Given the description of an element on the screen output the (x, y) to click on. 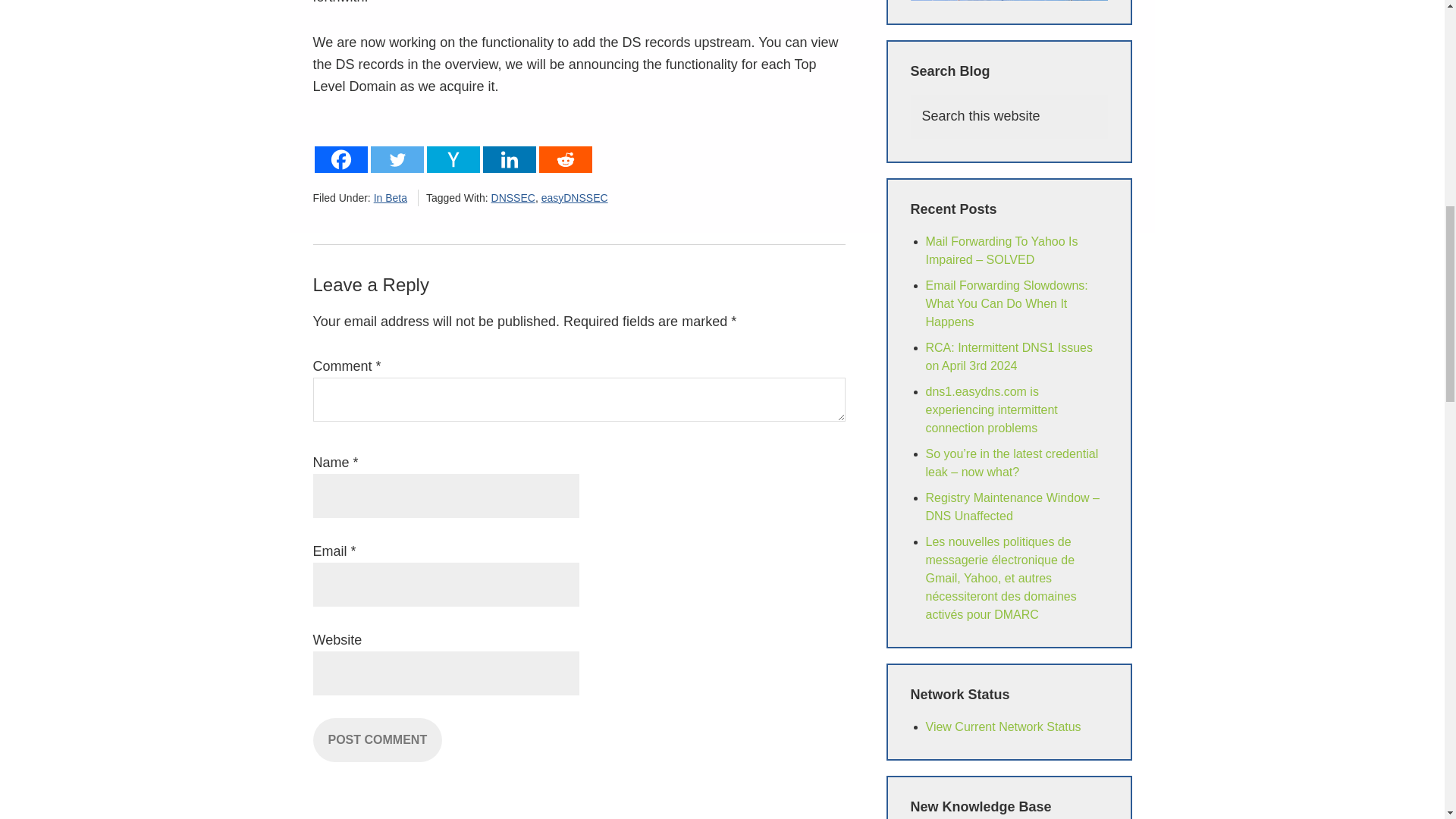
Reddit (564, 146)
Facebook (340, 146)
Twitter (396, 146)
Post Comment (377, 740)
Linkedin (508, 146)
